Given the description of an element on the screen output the (x, y) to click on. 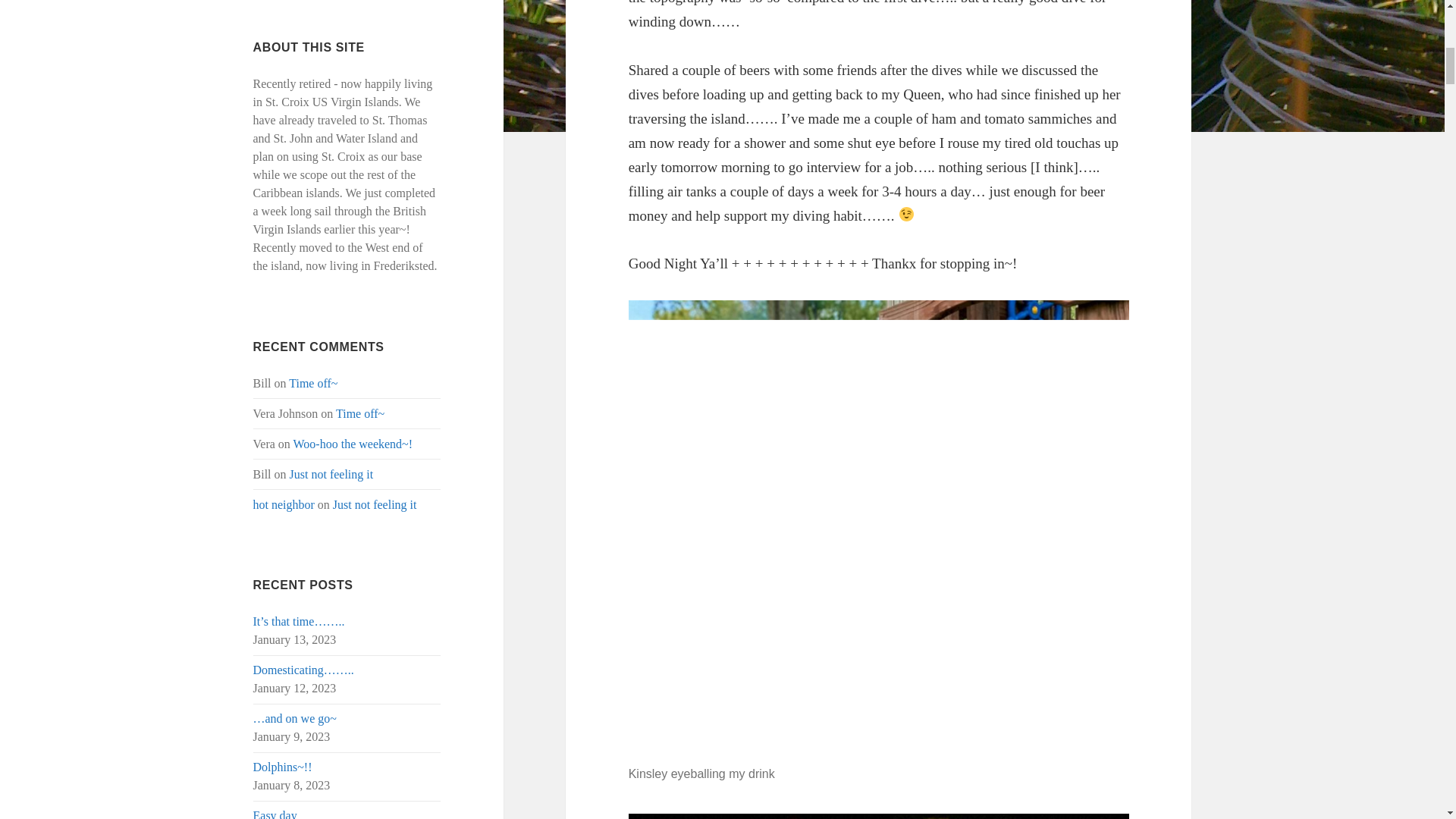
Easy day (275, 814)
Just not feeling it (331, 473)
hot neighbor (283, 504)
Just not feeling it (374, 504)
